Given the description of an element on the screen output the (x, y) to click on. 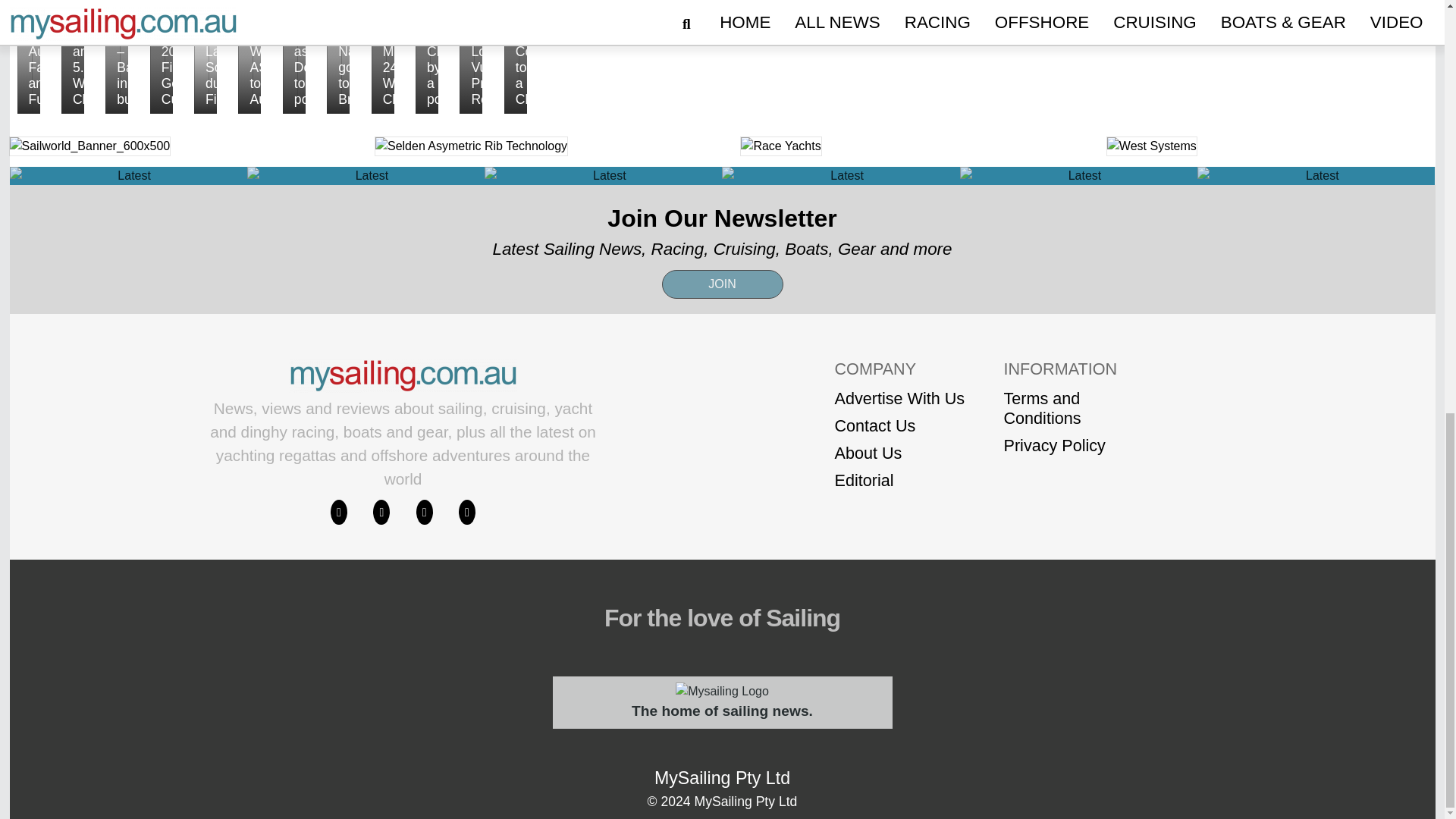
Editorial (899, 480)
Advertise With Us (899, 398)
About Us (899, 453)
Contact Us (899, 425)
